Given the description of an element on the screen output the (x, y) to click on. 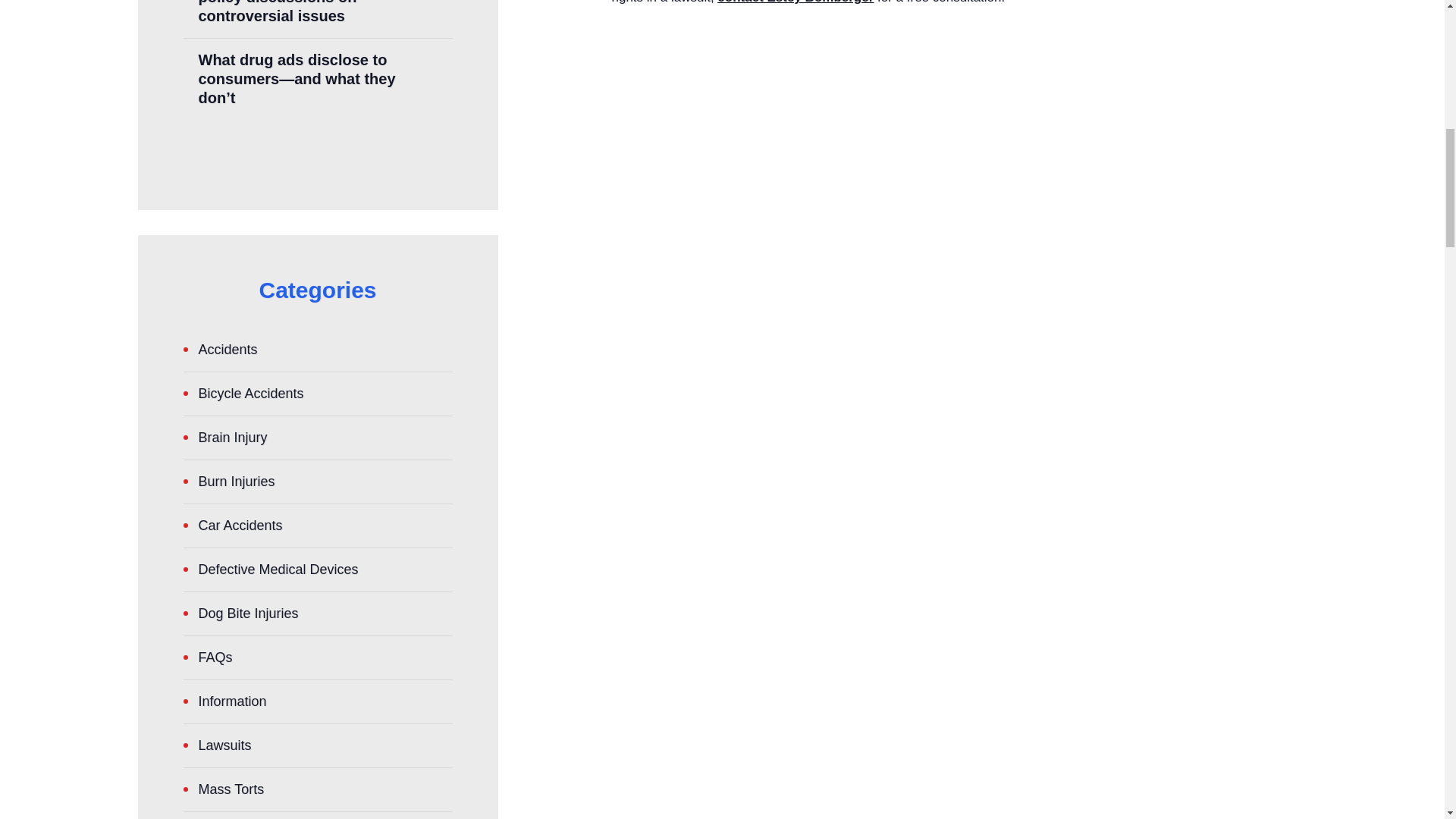
contact Estey Bomberger (795, 2)
